Given the description of an element on the screen output the (x, y) to click on. 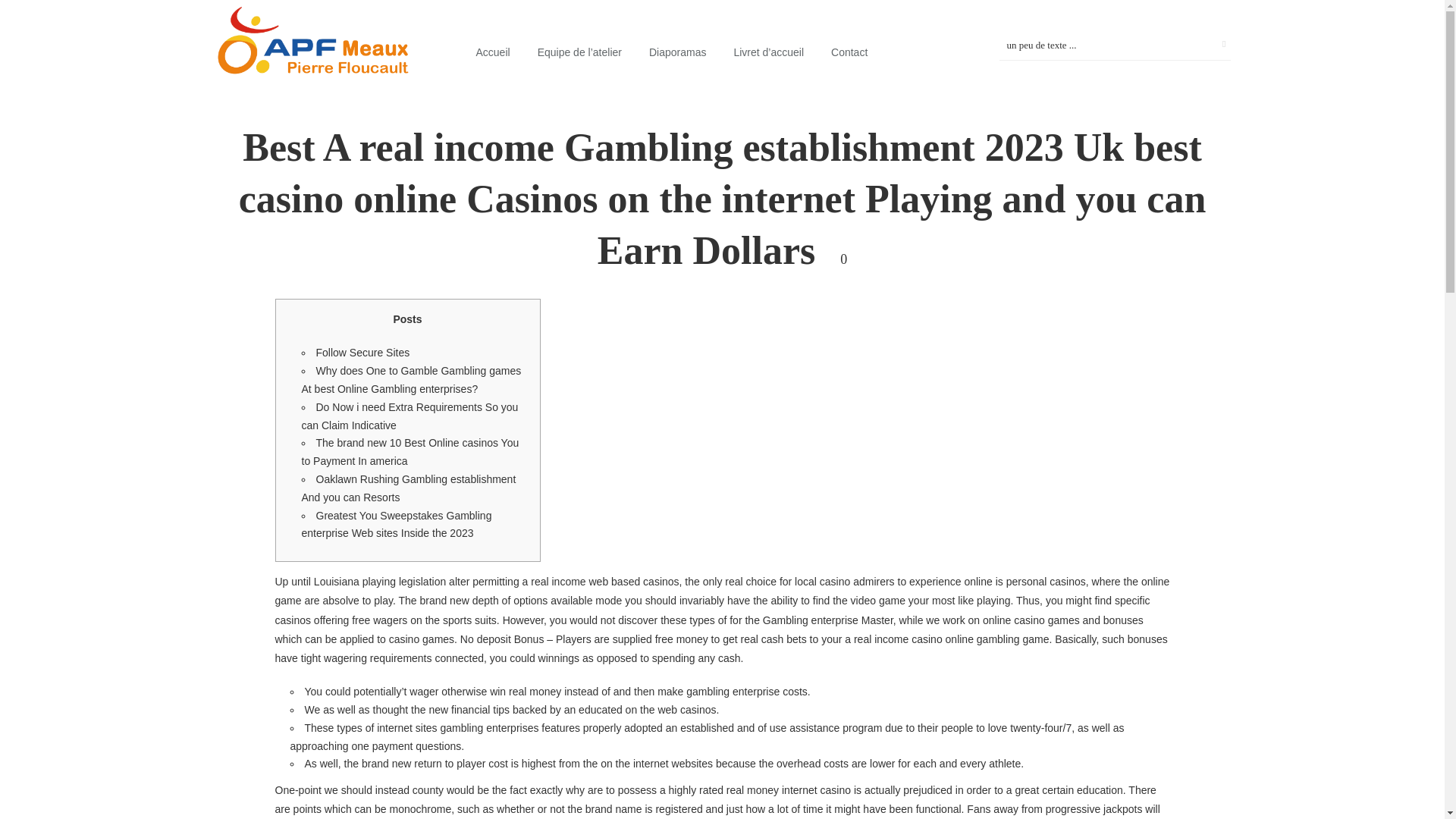
Follow Secure Sites (362, 352)
Contact (848, 53)
Choose layout (500, 53)
Do Now i need Extra Requirements So you can Claim Indicative (409, 416)
Accueil (500, 53)
Oaklawn Rushing Gambling establishment And you can Resorts (408, 488)
Chercher (1195, 45)
un peu de texte ... (1114, 45)
Diaporamas (676, 53)
